Given the description of an element on the screen output the (x, y) to click on. 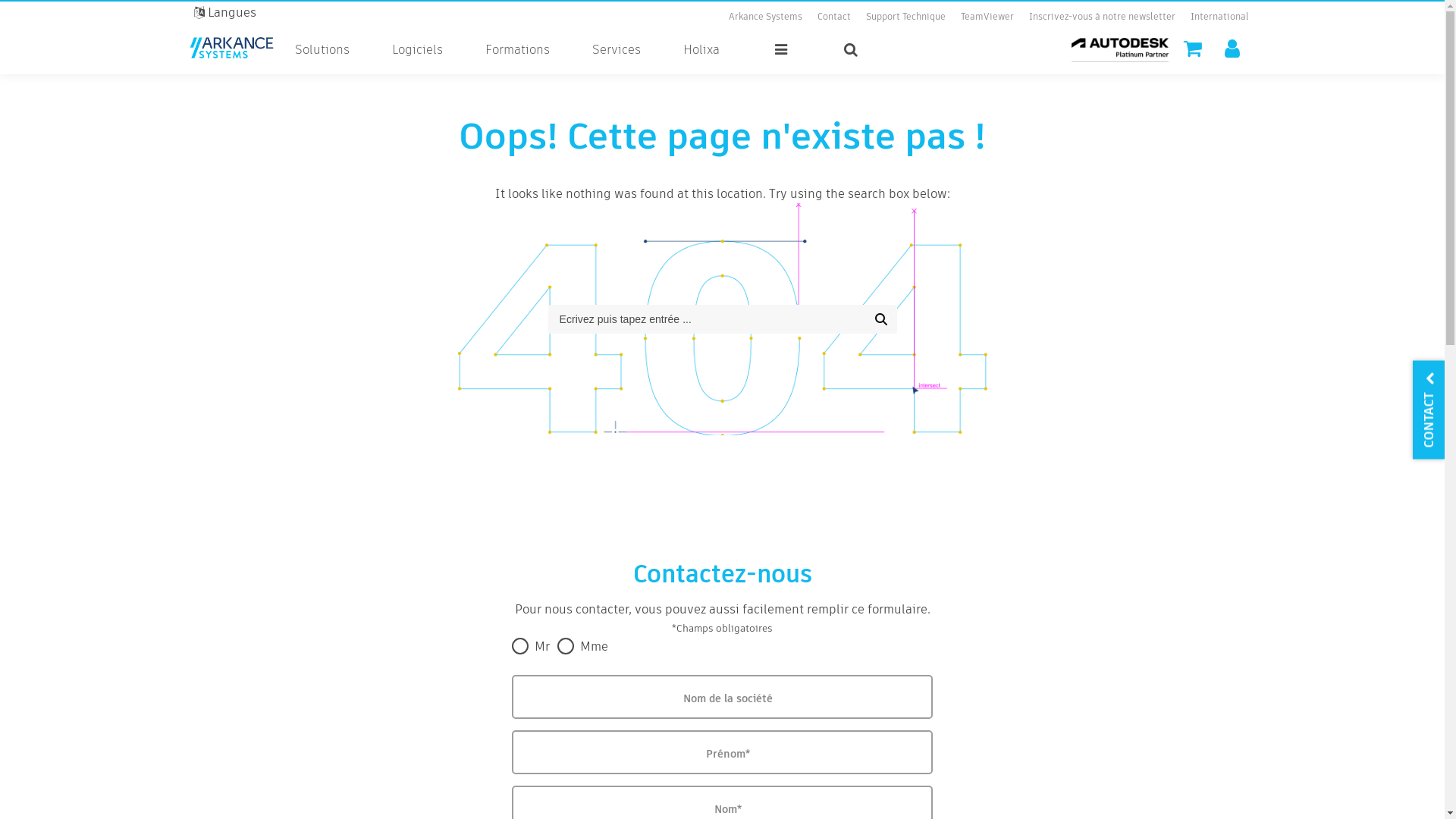
Logiciels Element type: text (417, 50)
Holixa Element type: text (701, 50)
Arkance Systems Element type: text (765, 17)
Support Technique Element type: text (905, 17)
Services Element type: text (616, 50)
International Element type: text (1219, 14)
My Account Element type: hover (1231, 48)
View your shopping cart Element type: hover (1192, 48)
Go! Element type: text (880, 318)
Contact Element type: text (833, 17)
TeamViewer Element type: text (987, 17)
Formations Element type: text (517, 50)
Solutions Element type: text (321, 50)
